Given the description of an element on the screen output the (x, y) to click on. 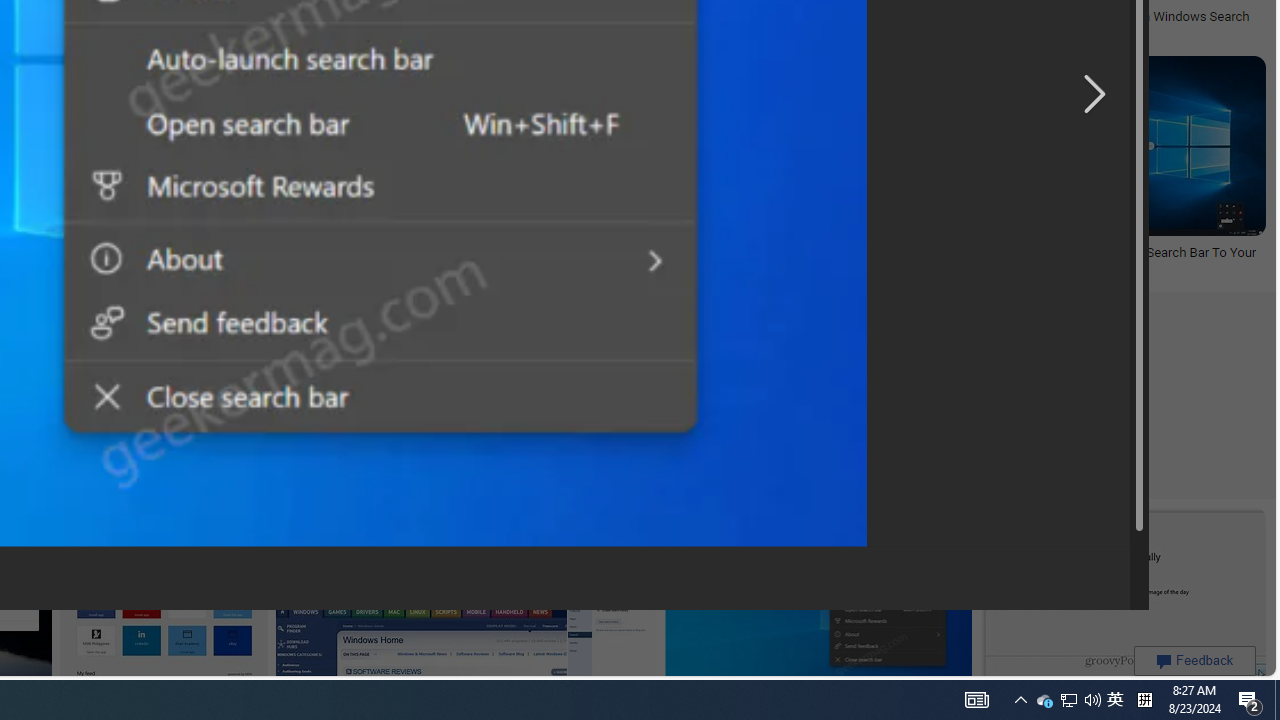
How to Use Bing Visual Search on Windows Search Bar (1106, 24)
2:33 (169, 74)
